Given the description of an element on the screen output the (x, y) to click on. 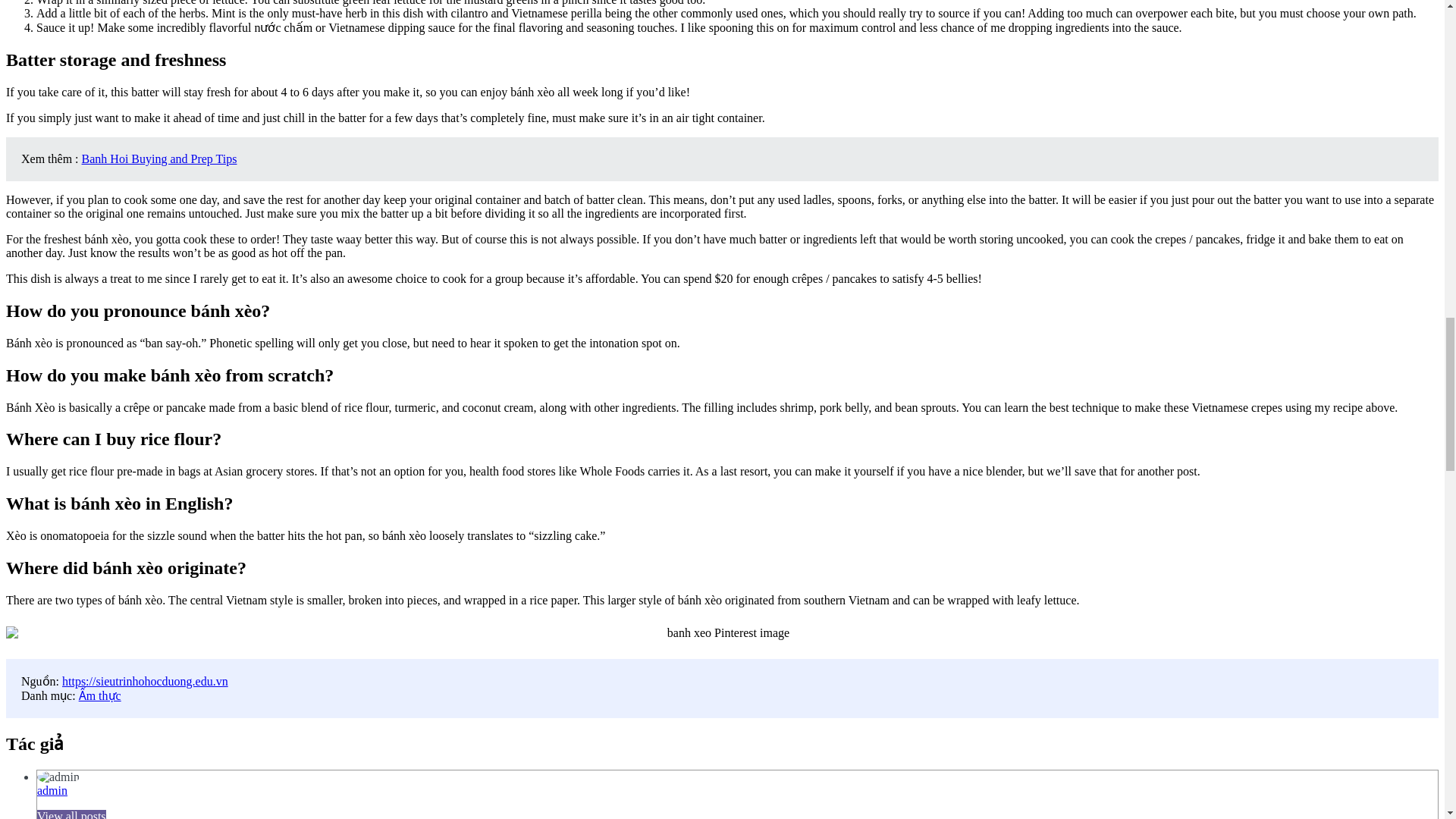
Banh Hoi Buying and Prep Tips (159, 158)
View all posts (71, 814)
admin (51, 789)
View all posts (71, 814)
admin (51, 789)
